Given the description of an element on the screen output the (x, y) to click on. 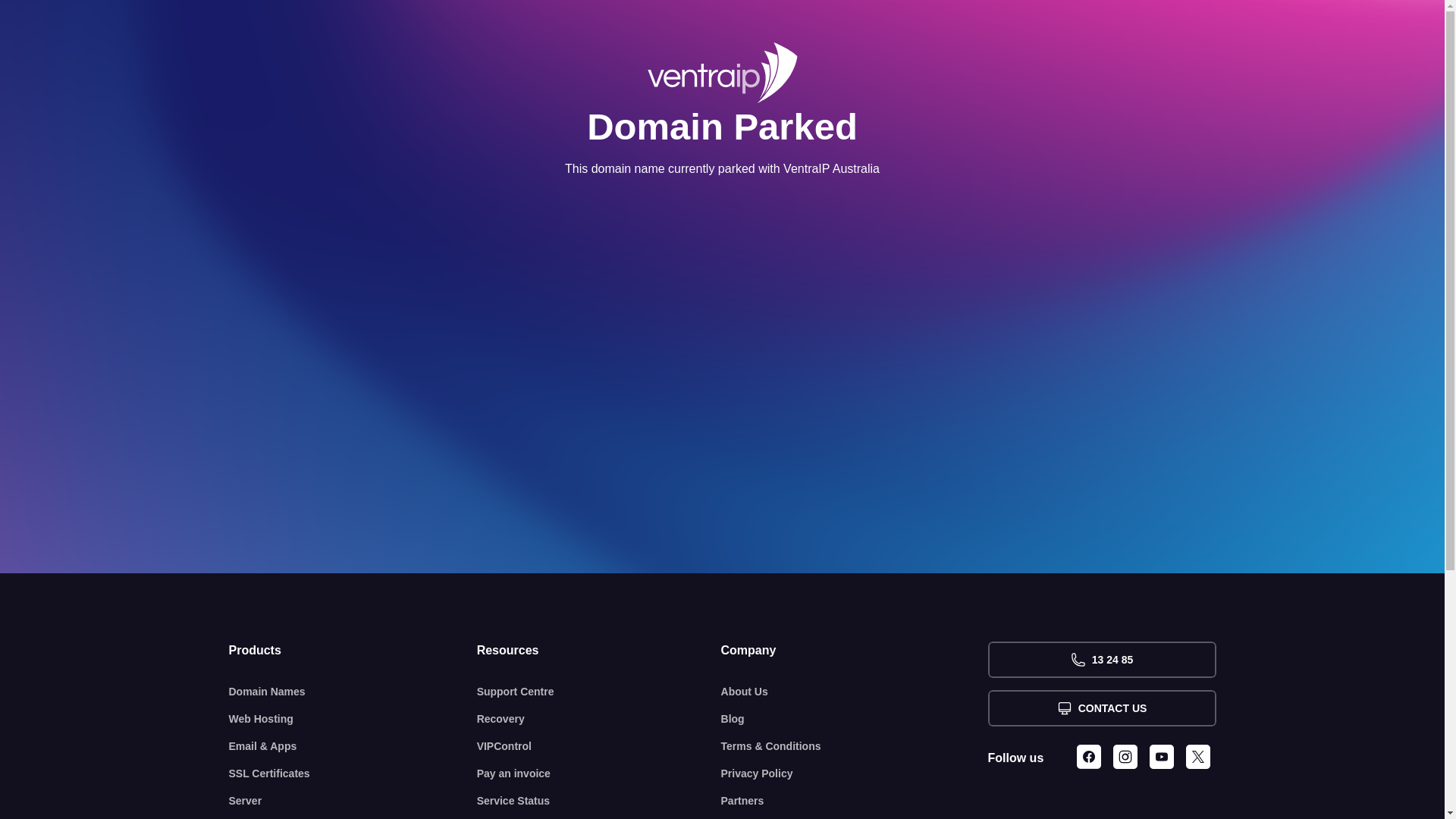
Email & Apps Element type: text (352, 745)
Partners Element type: text (854, 800)
Server Element type: text (352, 800)
VIPControl Element type: text (598, 745)
Pay an invoice Element type: text (598, 773)
CONTACT US Element type: text (1101, 708)
Blog Element type: text (854, 718)
Support Centre Element type: text (598, 691)
Web Hosting Element type: text (352, 718)
Privacy Policy Element type: text (854, 773)
Recovery Element type: text (598, 718)
Domain Names Element type: text (352, 691)
Service Status Element type: text (598, 800)
Terms & Conditions Element type: text (854, 745)
13 24 85 Element type: text (1101, 659)
About Us Element type: text (854, 691)
SSL Certificates Element type: text (352, 773)
